Given the description of an element on the screen output the (x, y) to click on. 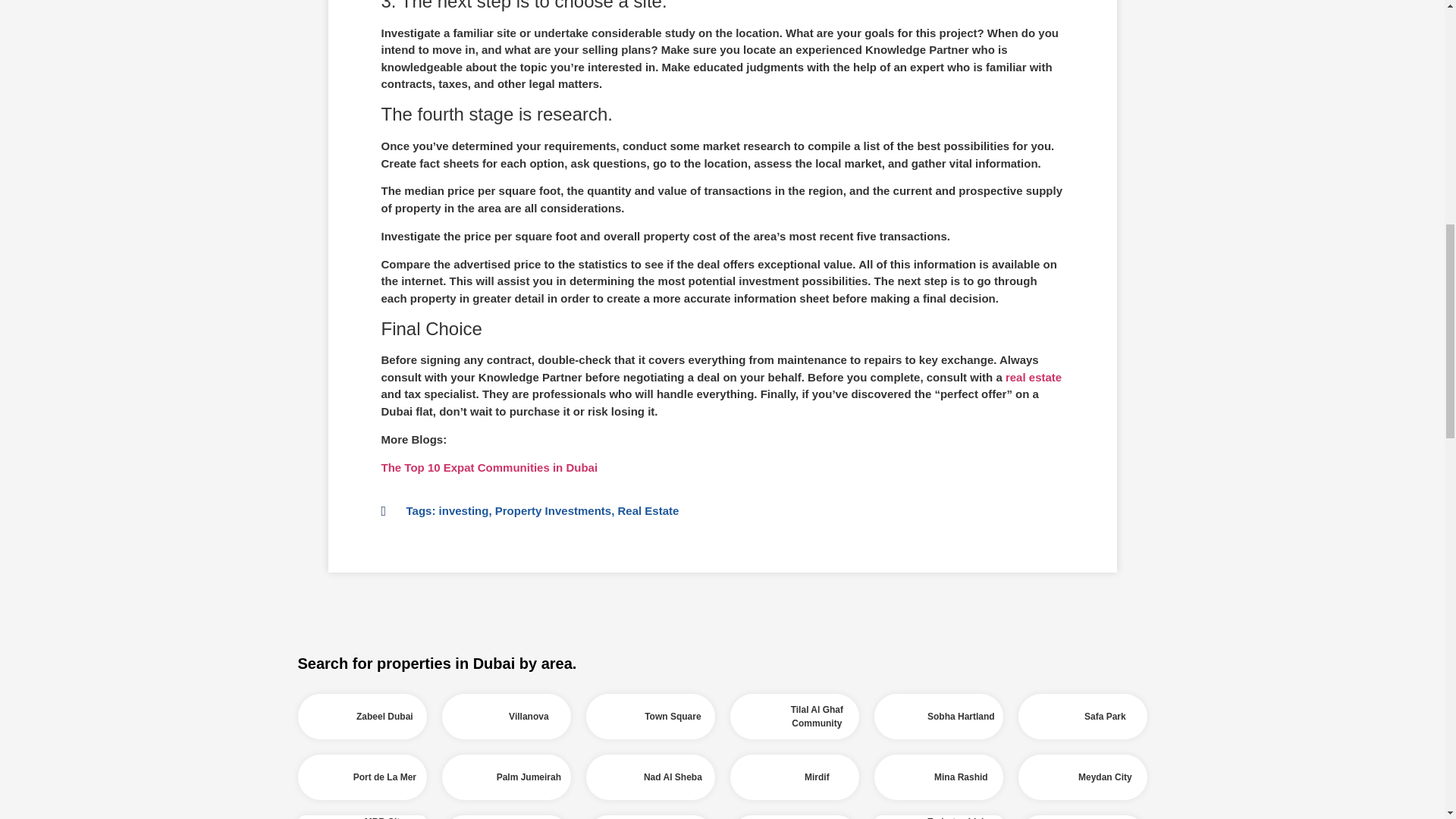
real estate (1033, 377)
The Top 10 Expat Communities in Dubai (488, 467)
Property Investments (553, 510)
investing (464, 510)
Real Estate (647, 510)
